Given the description of an element on the screen output the (x, y) to click on. 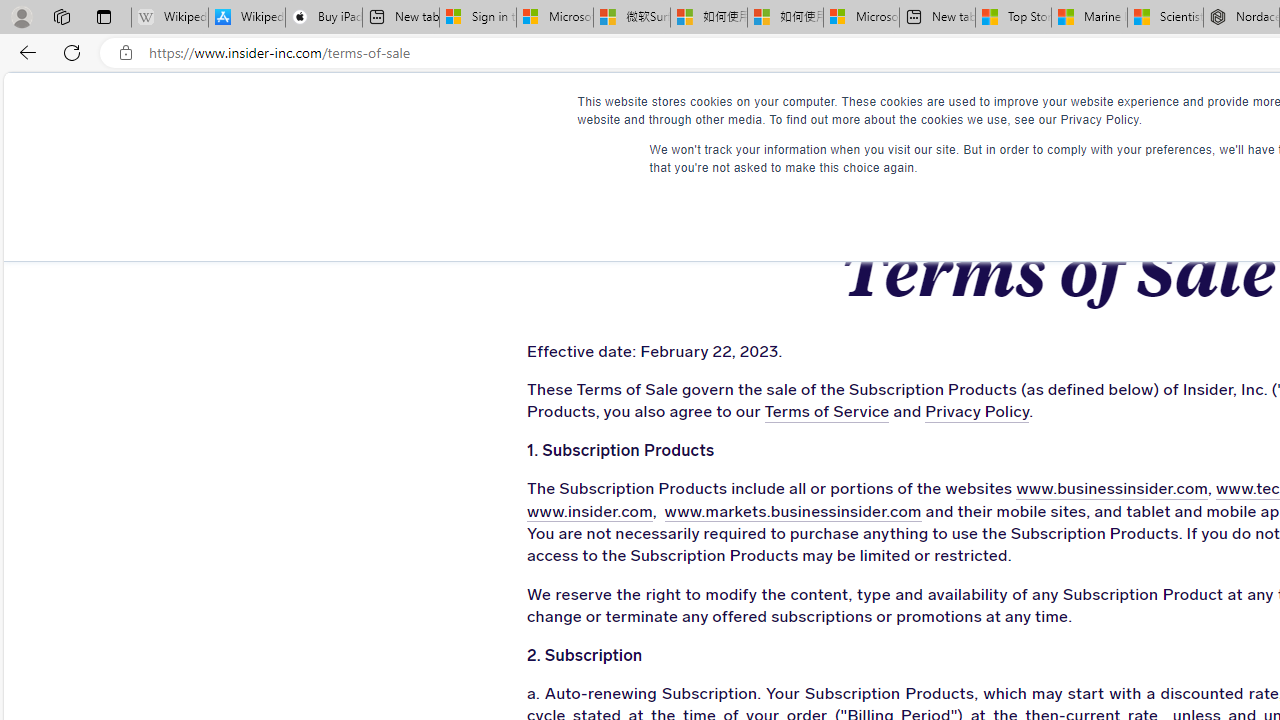
www.businessinsider.com (1112, 489)
Microsoft account | Account Checkup (861, 17)
ADVERTISE WITH US (786, 110)
Insider Inc. (1056, 111)
www.insider.com (589, 511)
WHO WE ARE (610, 110)
Insider Inc. (1057, 111)
